Given the description of an element on the screen output the (x, y) to click on. 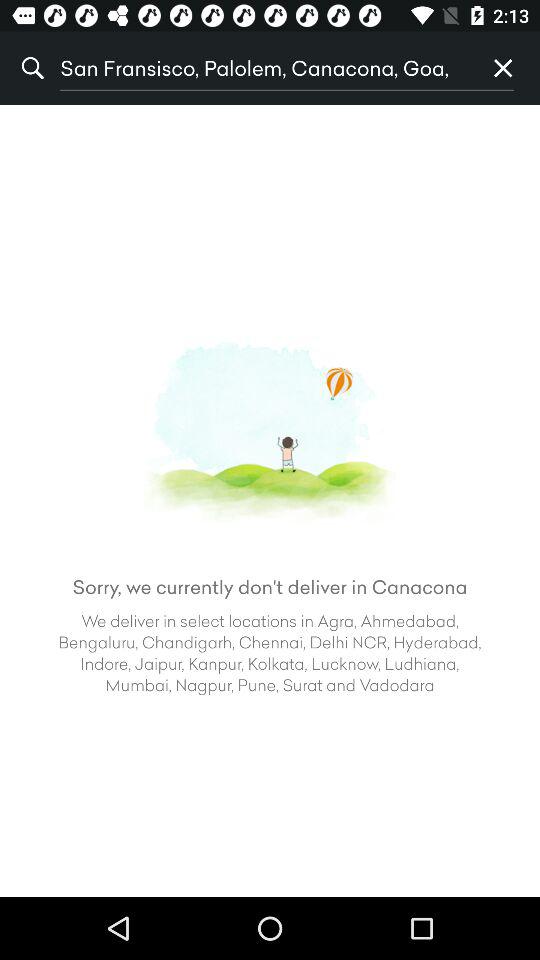
open icon to the right of the san fransisco palolem icon (503, 68)
